Given the description of an element on the screen output the (x, y) to click on. 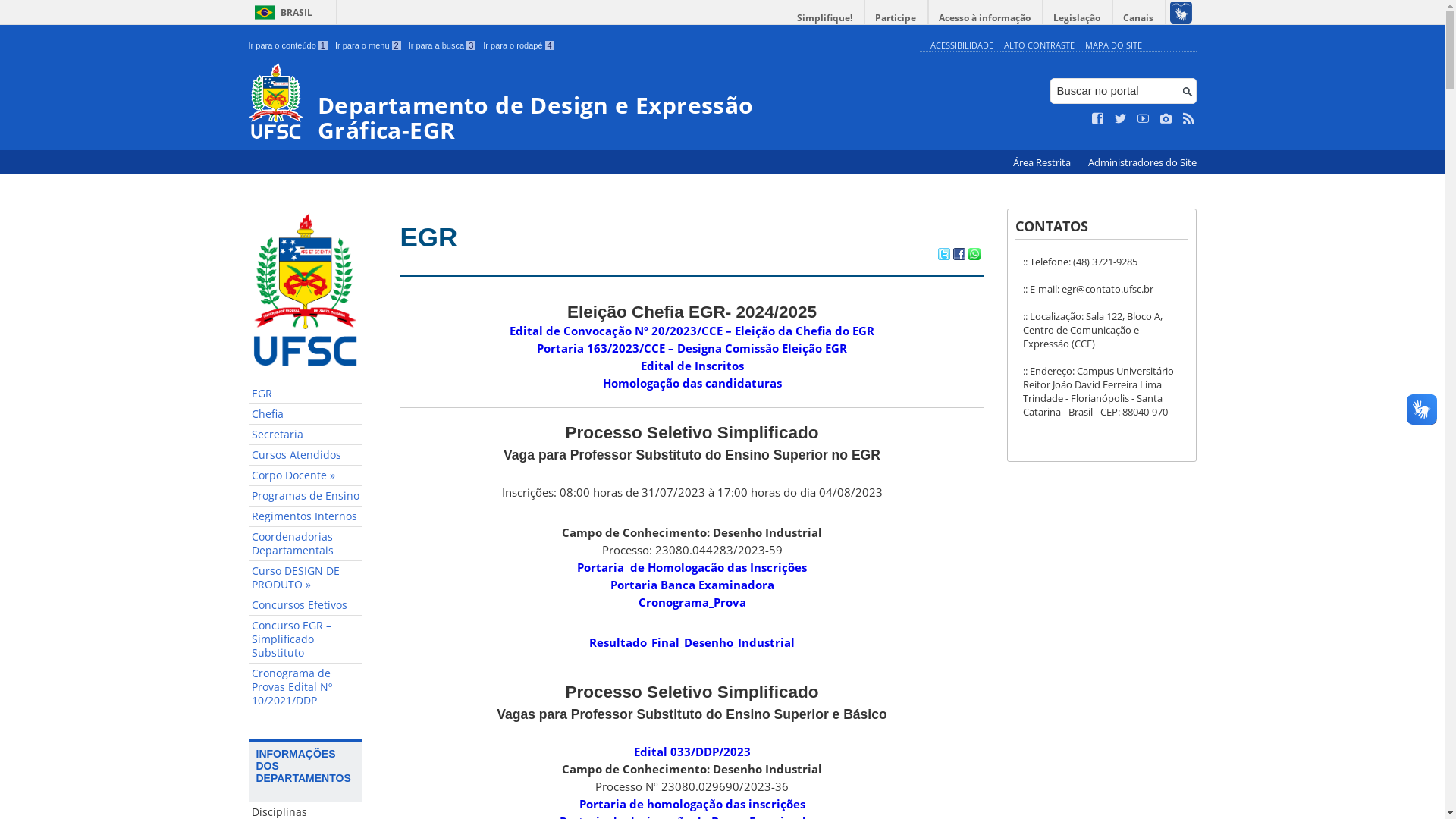
Edital de Inscritos Element type: text (691, 365)
Edital 033/DDP/2023 Element type: text (691, 751)
Ir para o menu 2 Element type: text (368, 45)
Regimentos Internos Element type: text (305, 516)
Cursos Atendidos Element type: text (305, 455)
EGR Element type: text (305, 393)
Portaria Banca Examinadora Element type: text (691, 584)
Cronograma_Prova Element type: text (692, 601)
Canais Element type: text (1138, 18)
Administradores do Site Element type: text (1141, 162)
Compartilhar no Facebook Element type: hover (958, 255)
Secretaria Element type: text (305, 434)
Ir para a busca 3 Element type: text (442, 45)
Compartilhar no Twitter Element type: hover (943, 255)
ALTO CONTRASTE Element type: text (1039, 44)
BRASIL Element type: text (280, 12)
Veja no Instagram Element type: hover (1166, 118)
Compartilhar no WhatsApp Element type: hover (973, 255)
EGR Element type: text (429, 236)
Simplifique! Element type: text (825, 18)
ACESSIBILIDADE Element type: text (960, 44)
Resultado_Final_Desenho_Industrial Element type: text (691, 641)
Participe Element type: text (895, 18)
Coordenadorias Departamentais Element type: text (305, 544)
Siga no Twitter Element type: hover (1120, 118)
Curta no Facebook Element type: hover (1098, 118)
MAPA DO SITE Element type: text (1112, 44)
Concursos Efetivos Element type: text (305, 605)
Programas de Ensino Element type: text (305, 496)
Chefia Element type: text (305, 414)
